Given the description of an element on the screen output the (x, y) to click on. 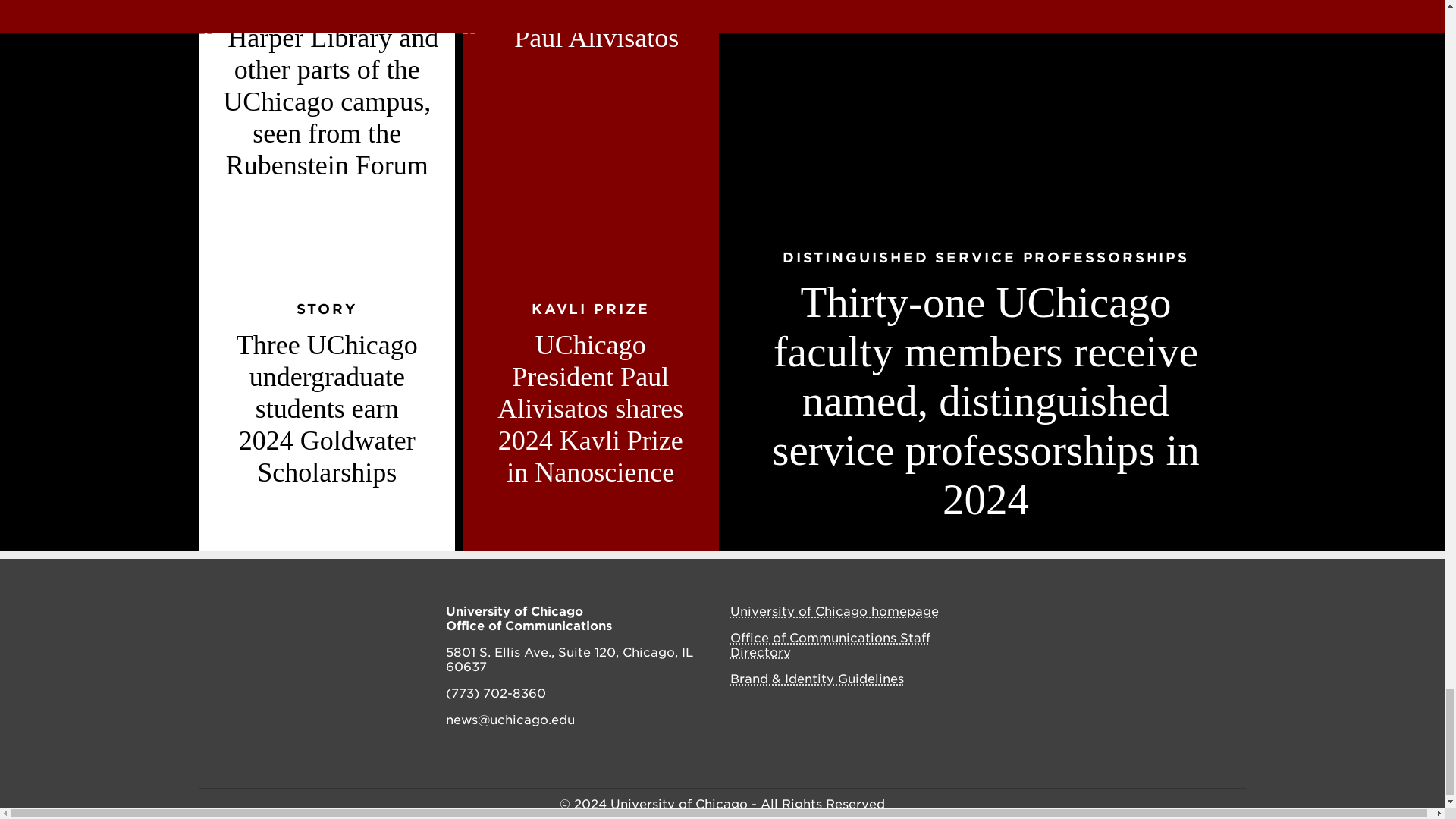
Connect with UChicago on Youtube (1214, 613)
Connect with UChicago on Twitter (1146, 613)
Connect with UChicago on Instagram (1112, 613)
Connect with UChicago on Linkedin (1181, 613)
Connect with UChicago on Facebook (1081, 613)
